Given the description of an element on the screen output the (x, y) to click on. 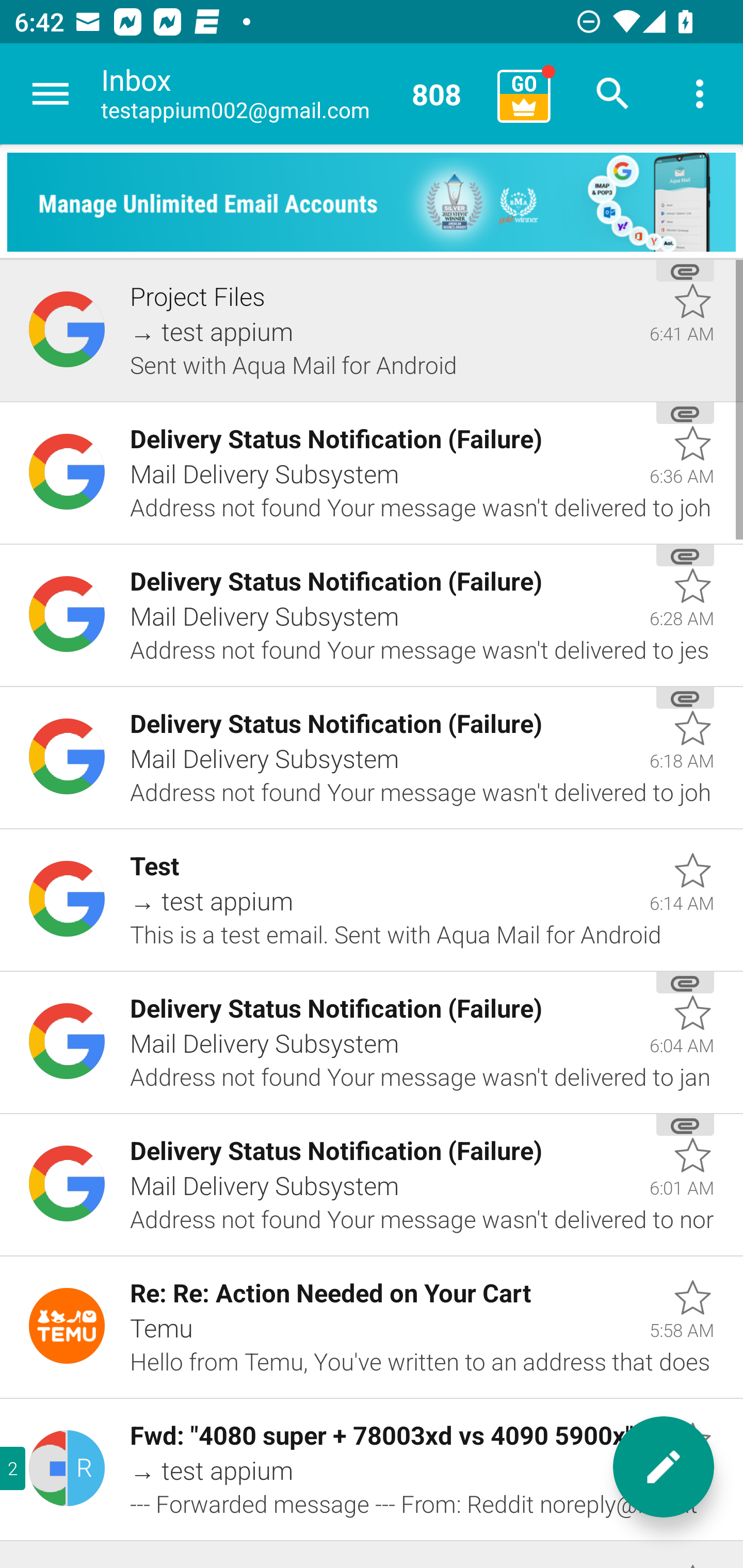
Navigate up (50, 93)
Inbox testappium002@gmail.com 808 (291, 93)
Search (612, 93)
More options (699, 93)
New message (663, 1466)
